Given the description of an element on the screen output the (x, y) to click on. 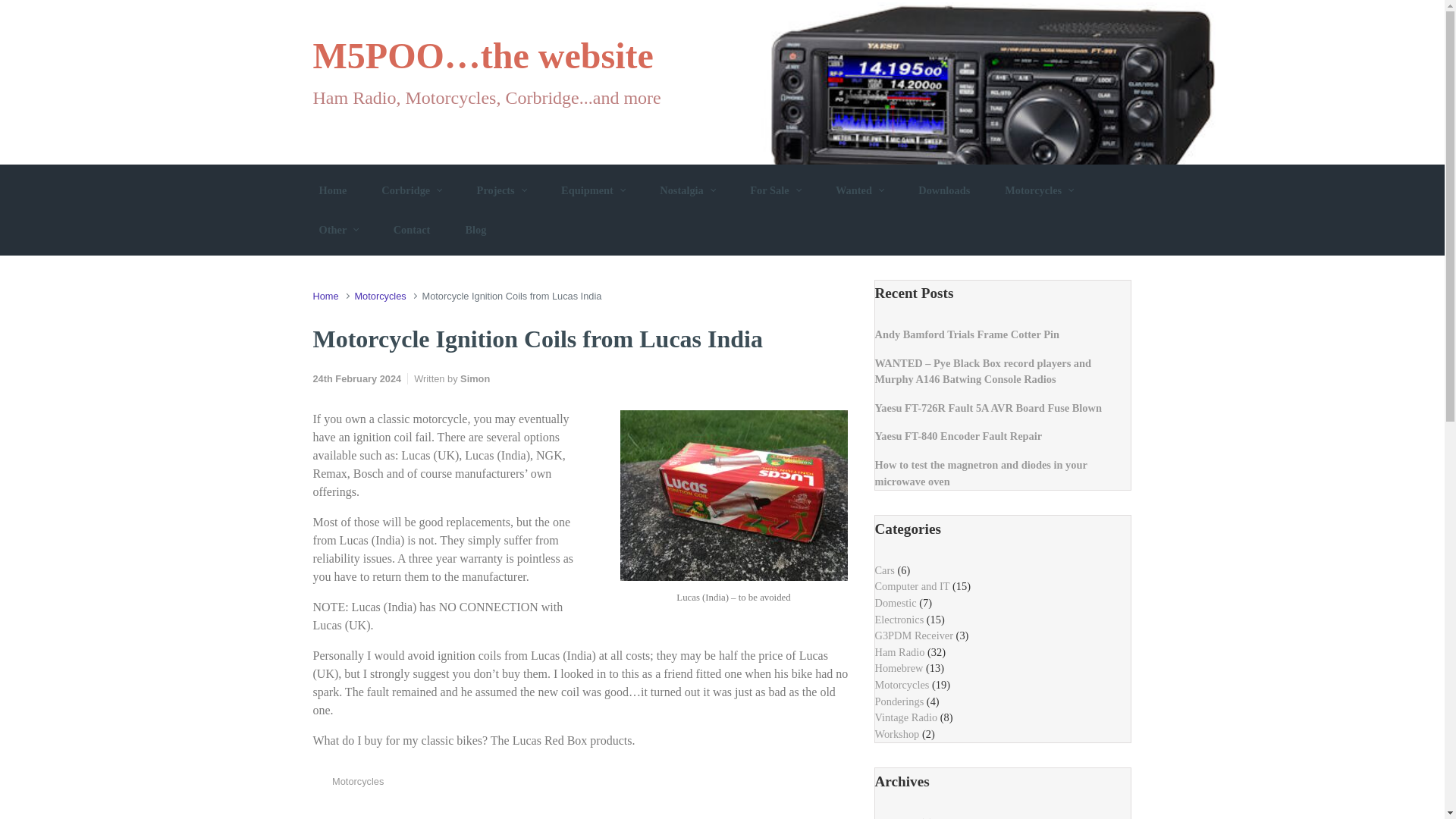
View all posts by Simon (474, 378)
Share by Email (822, 784)
Share on Facebook (777, 784)
More options (843, 784)
Skip to main content (18, 10)
Share on Twitter (755, 784)
Motorcycles (379, 296)
Share on Pinterest (799, 784)
